Given the description of an element on the screen output the (x, y) to click on. 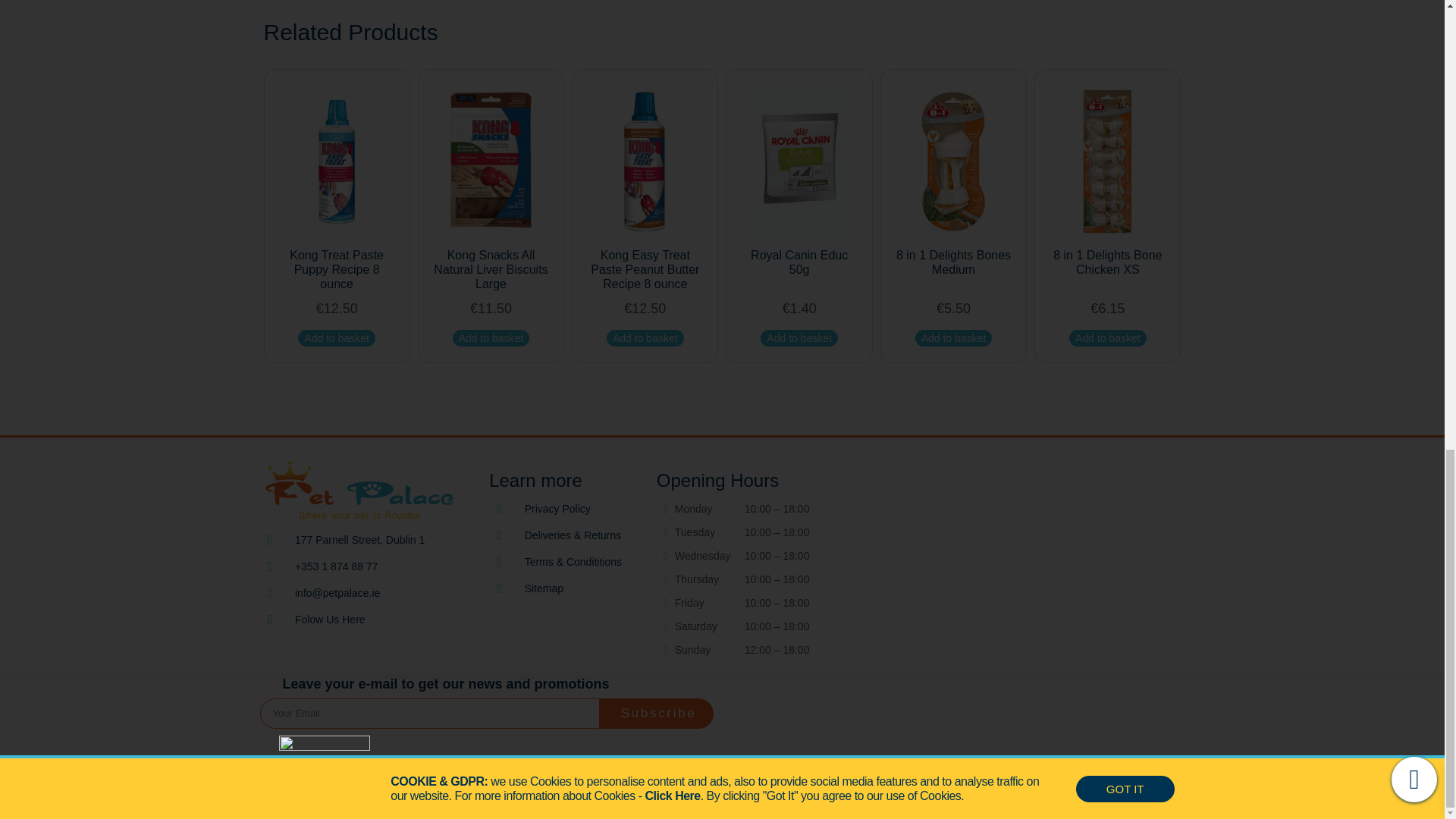
Pet Palace, 177 Parnell Street, Rotunda, Dublin 1 (1026, 612)
